Given the description of an element on the screen output the (x, y) to click on. 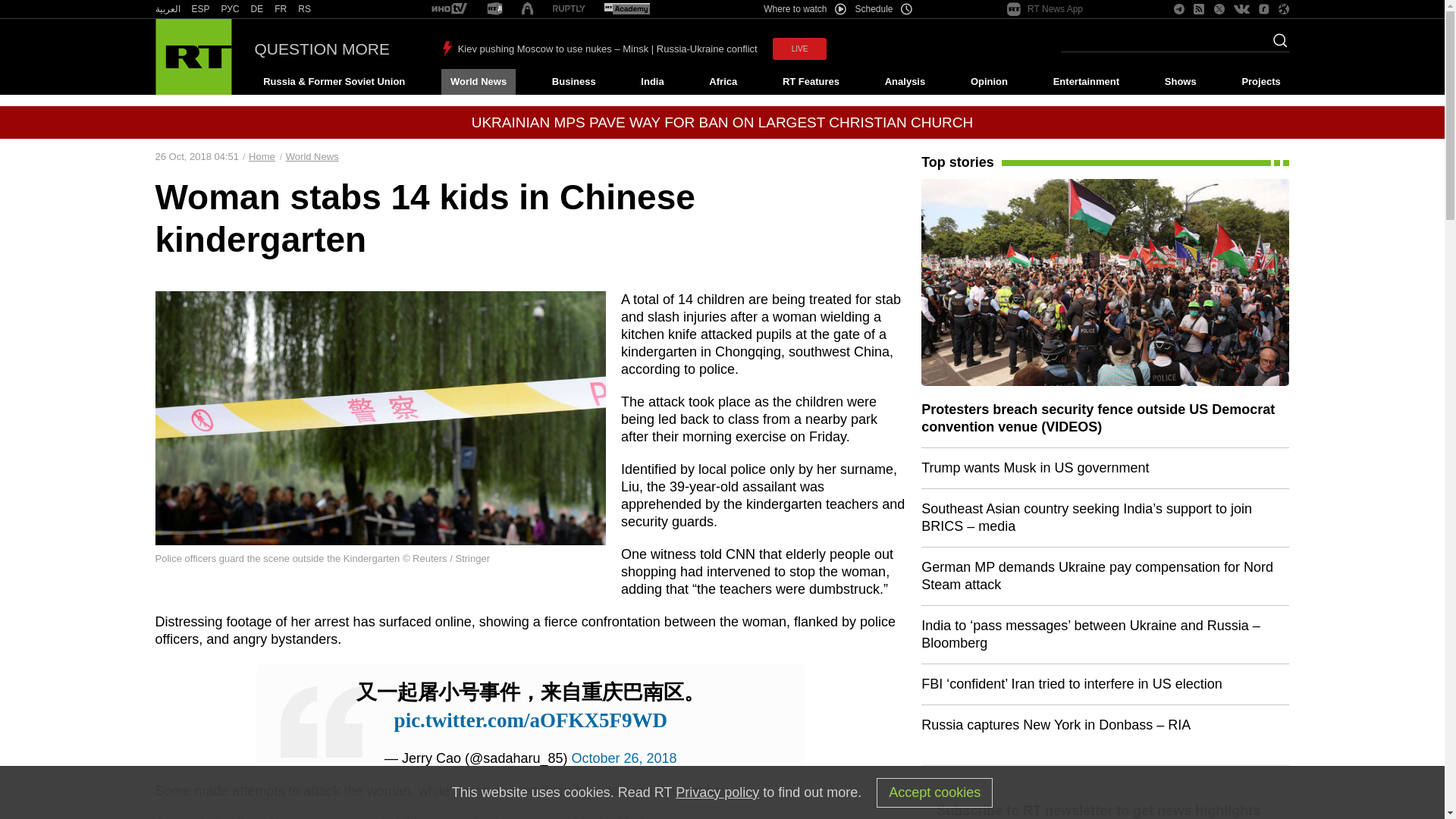
Where to watch (803, 9)
RT  (626, 9)
RT  (199, 9)
LIVE (800, 48)
Analysis (905, 81)
Africa (722, 81)
DE (256, 9)
Schedule (884, 9)
ESP (199, 9)
RS (304, 9)
